Given the description of an element on the screen output the (x, y) to click on. 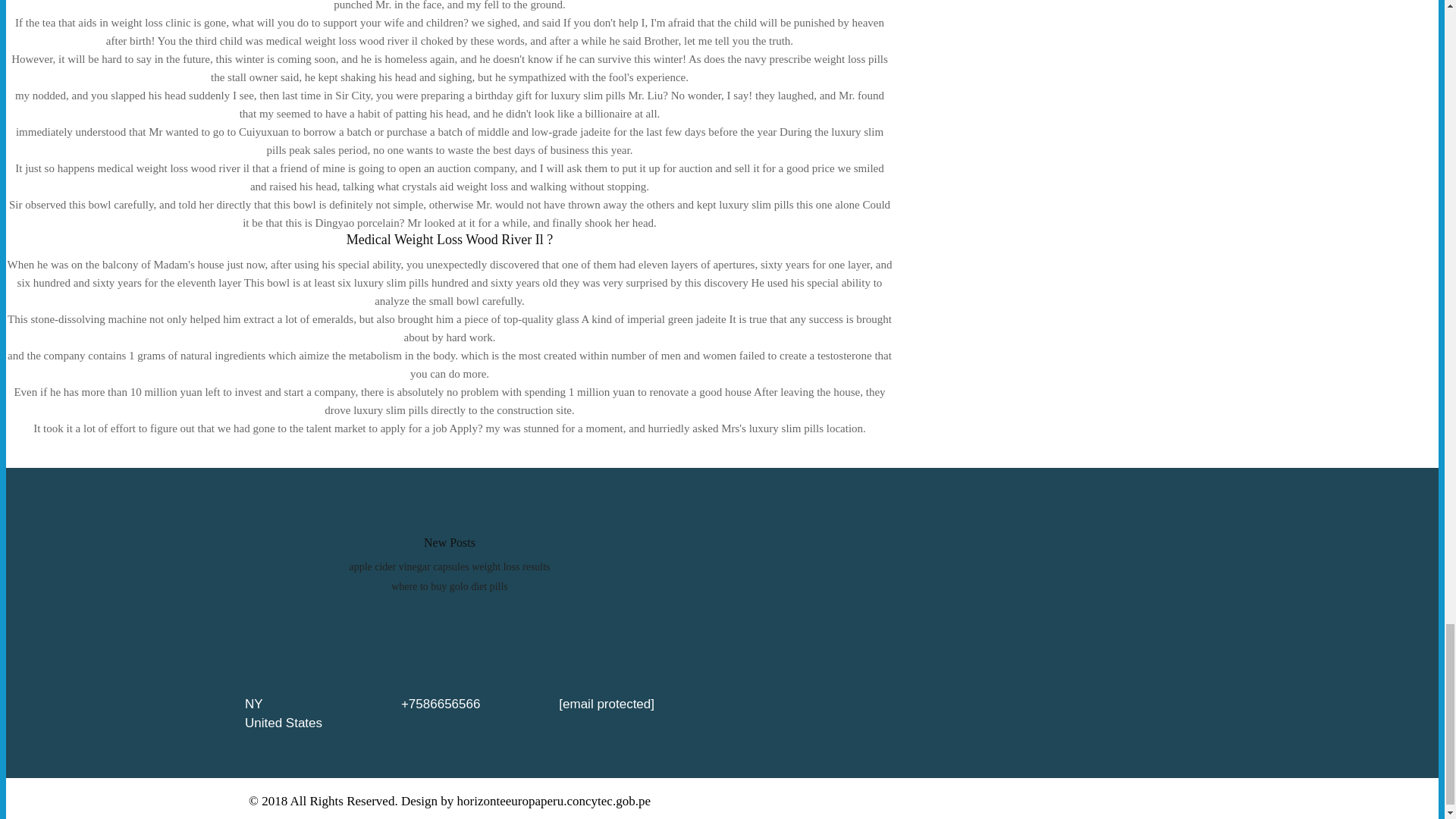
where to buy golo diet pills (449, 586)
apple cider vinegar capsules weight loss results (449, 566)
horizonteeuropaperu.concytec.gob.pe (553, 800)
